Given the description of an element on the screen output the (x, y) to click on. 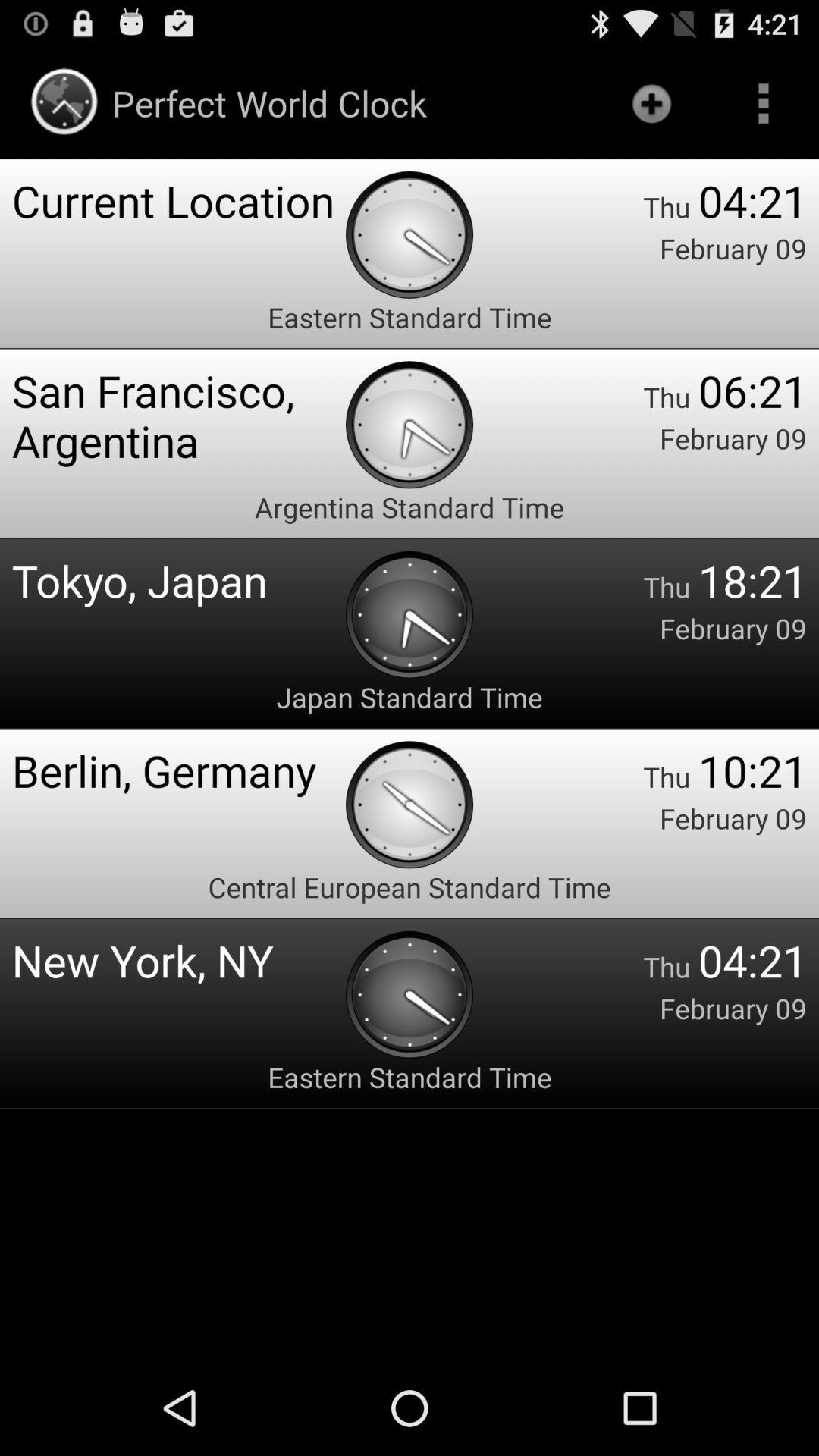
click the tokyo, japan icon (178, 580)
